Given the description of an element on the screen output the (x, y) to click on. 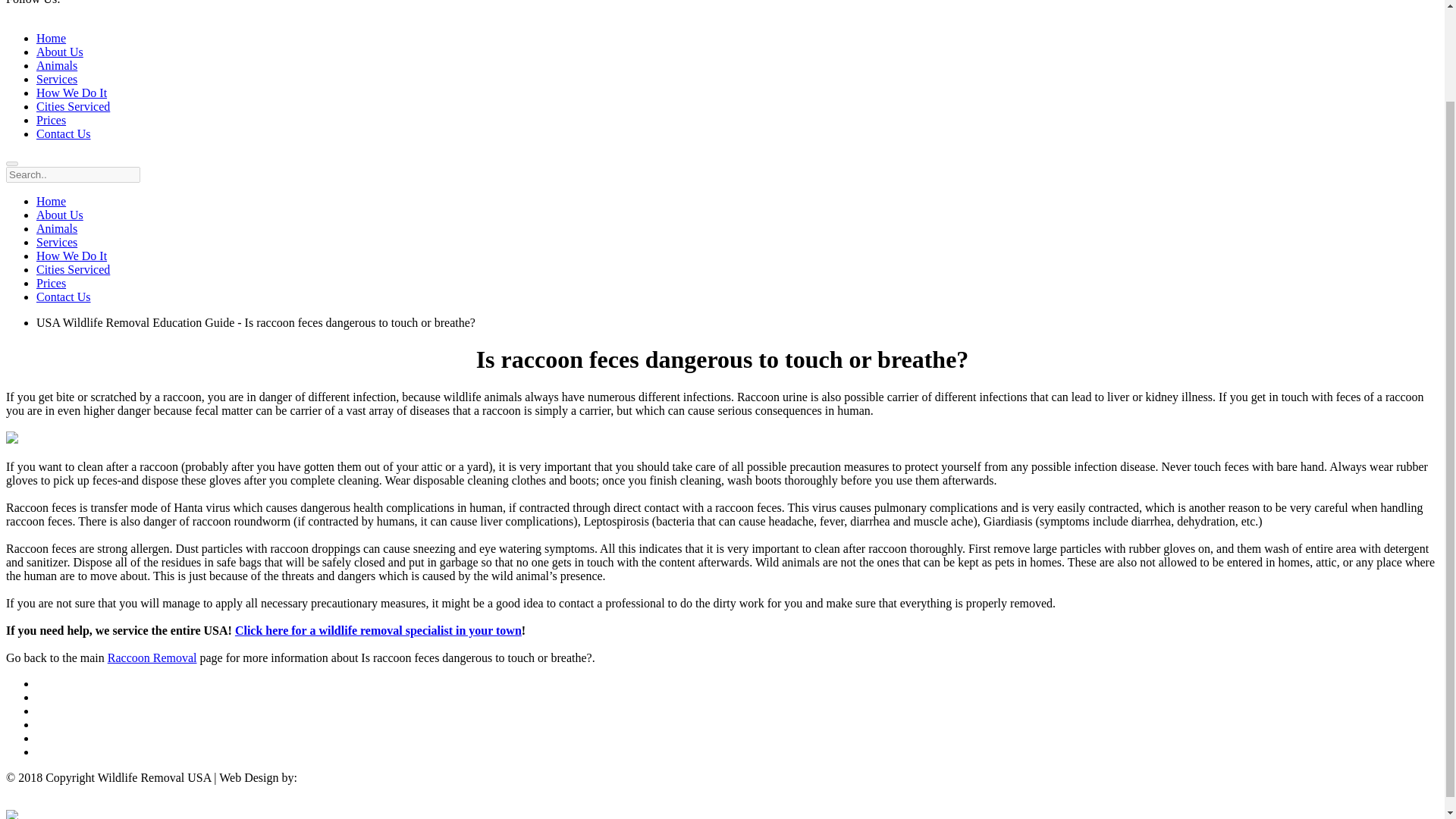
Services (56, 78)
Cities Serviced (73, 106)
Home (50, 38)
Animals (56, 228)
Click here for a wildlife removal specialist in your town (377, 630)
Home (50, 201)
Raccoon Removal (151, 657)
Contact Us (63, 296)
How We Do It (71, 92)
About Us (59, 51)
Services (56, 241)
Contact Us (63, 133)
About Us (59, 214)
Prices (50, 119)
Prices (50, 282)
